Given the description of an element on the screen output the (x, y) to click on. 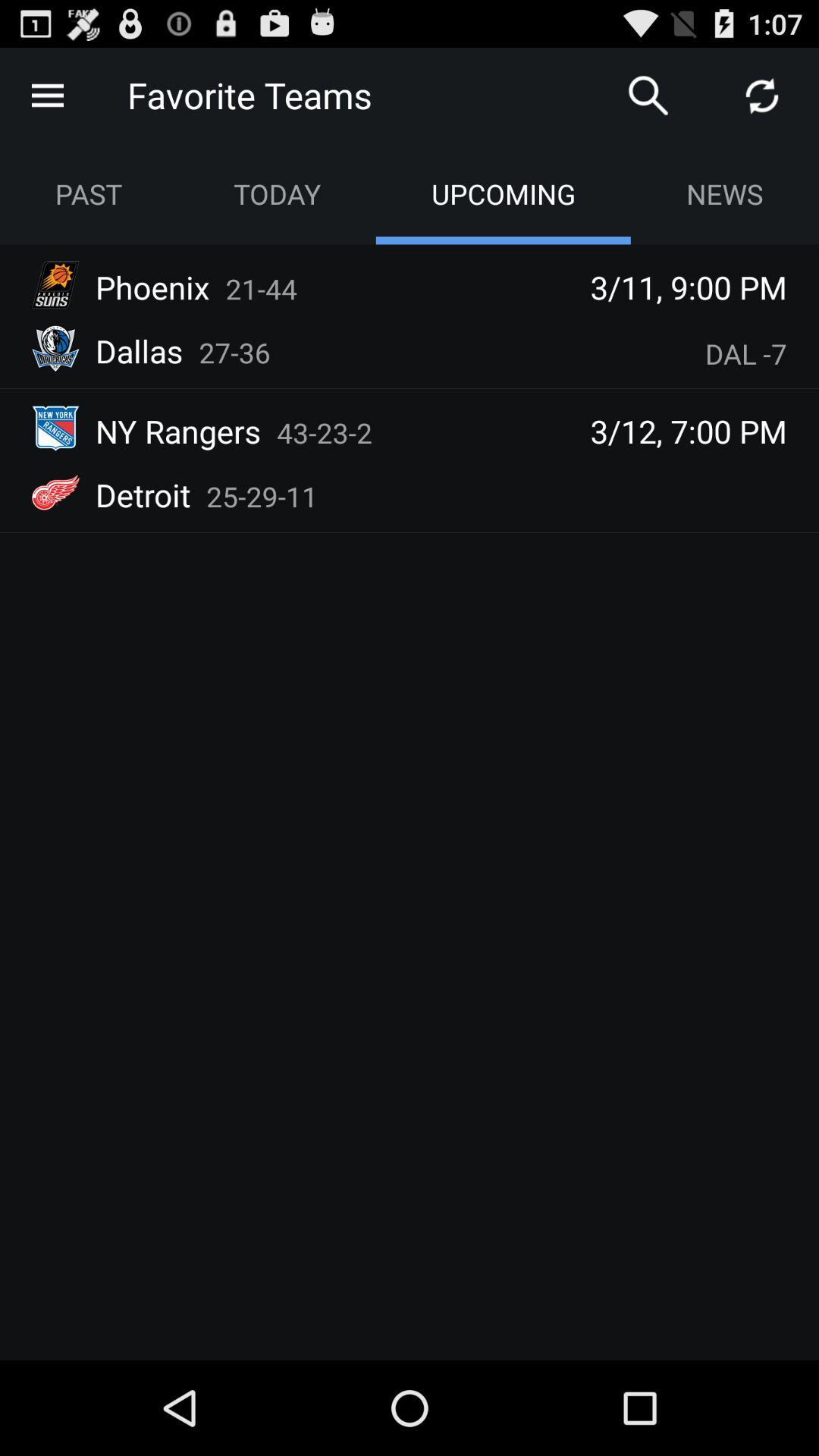
open the item below the 3 11 9 app (746, 353)
